Given the description of an element on the screen output the (x, y) to click on. 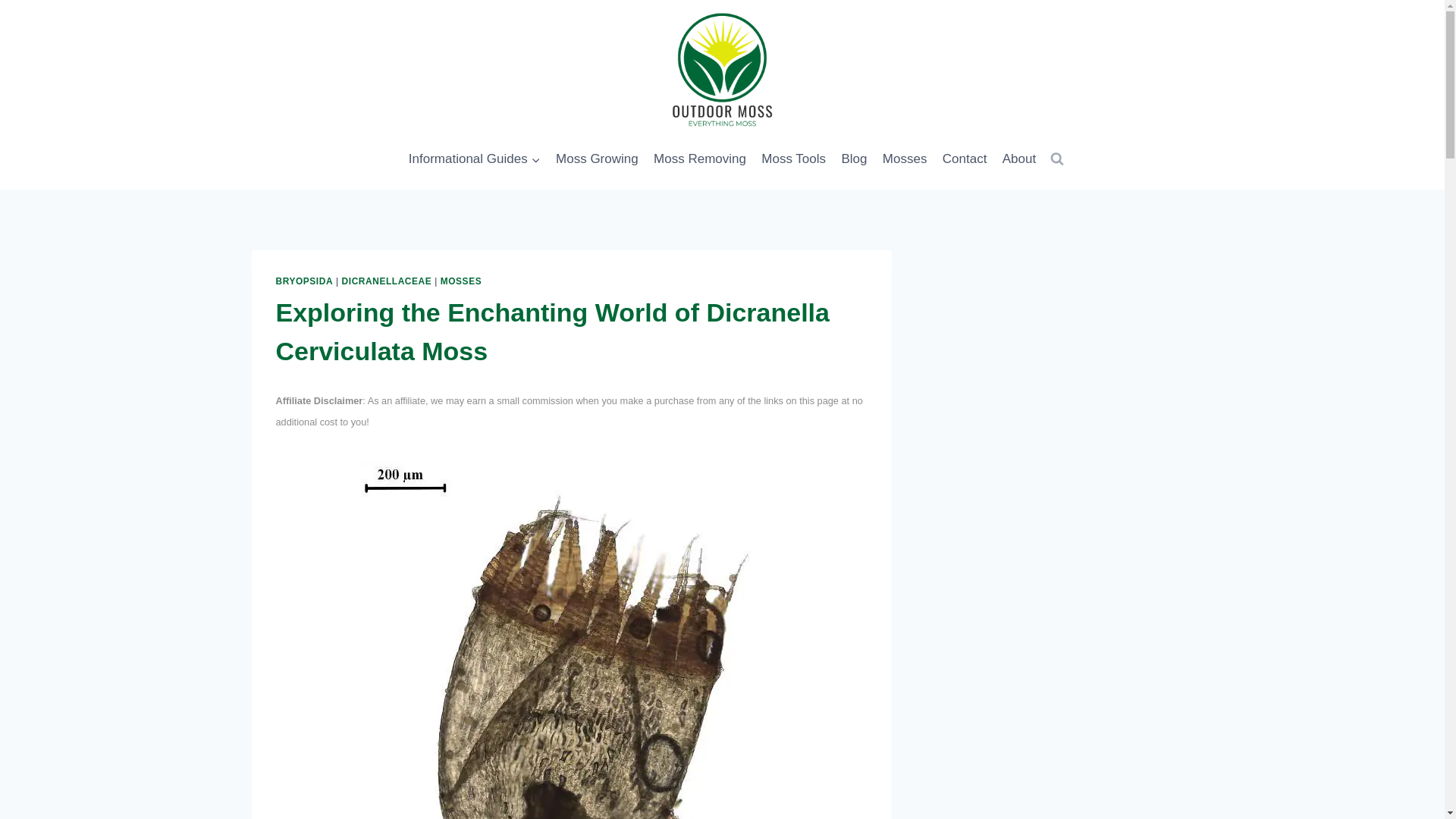
Informational Guides (474, 158)
BRYOPSIDA (304, 281)
Contact (964, 158)
About (1018, 158)
DICRANELLACEAE (387, 281)
Mosses (904, 158)
Moss Removing (700, 158)
Moss Growing (597, 158)
Moss Tools (793, 158)
Blog (853, 158)
MOSSES (461, 281)
